Given the description of an element on the screen output the (x, y) to click on. 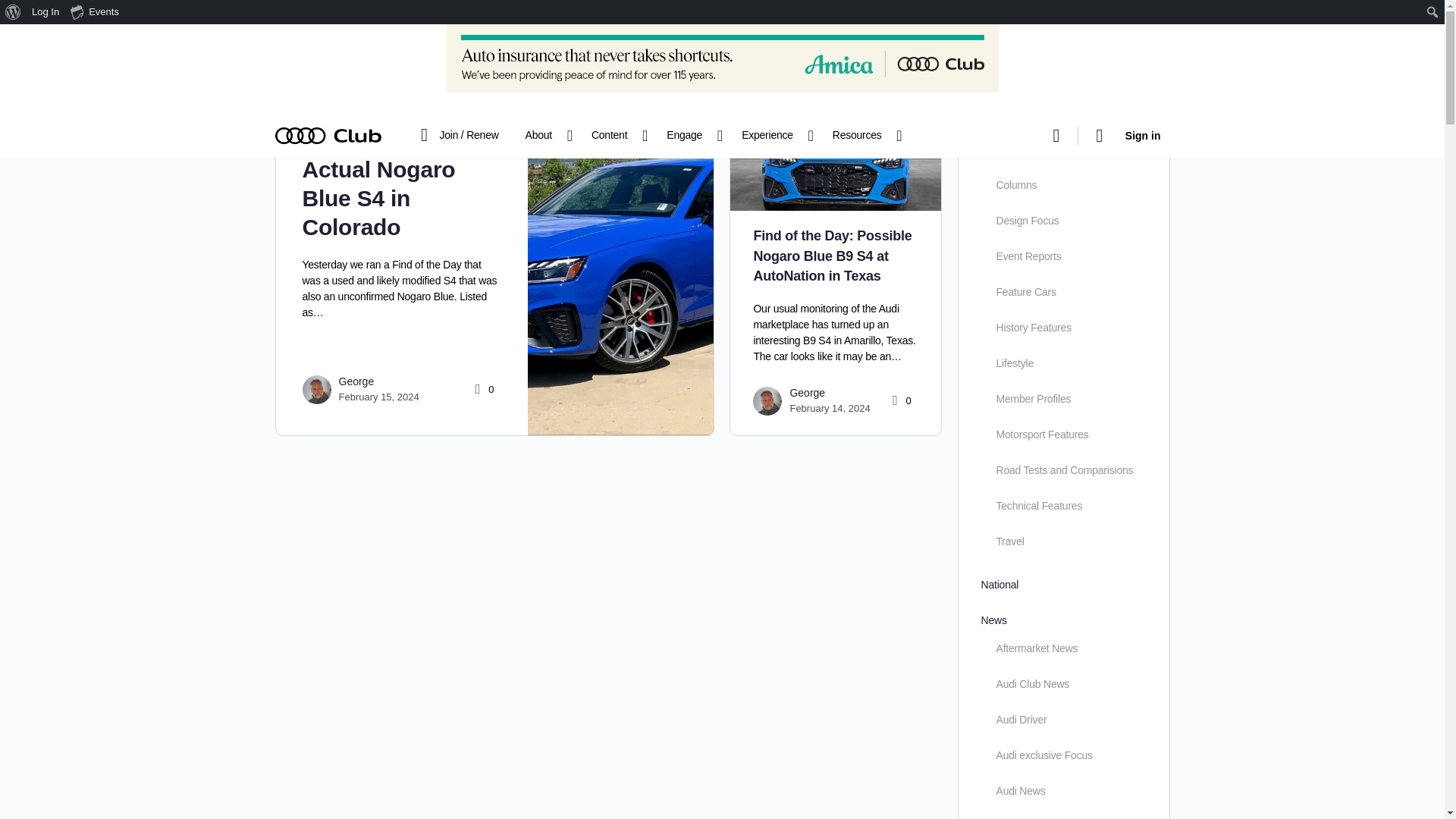
About (545, 135)
Engage (690, 135)
Content (615, 135)
Log In (45, 12)
Search (16, 12)
Events (95, 12)
Experience (773, 135)
